Given the description of an element on the screen output the (x, y) to click on. 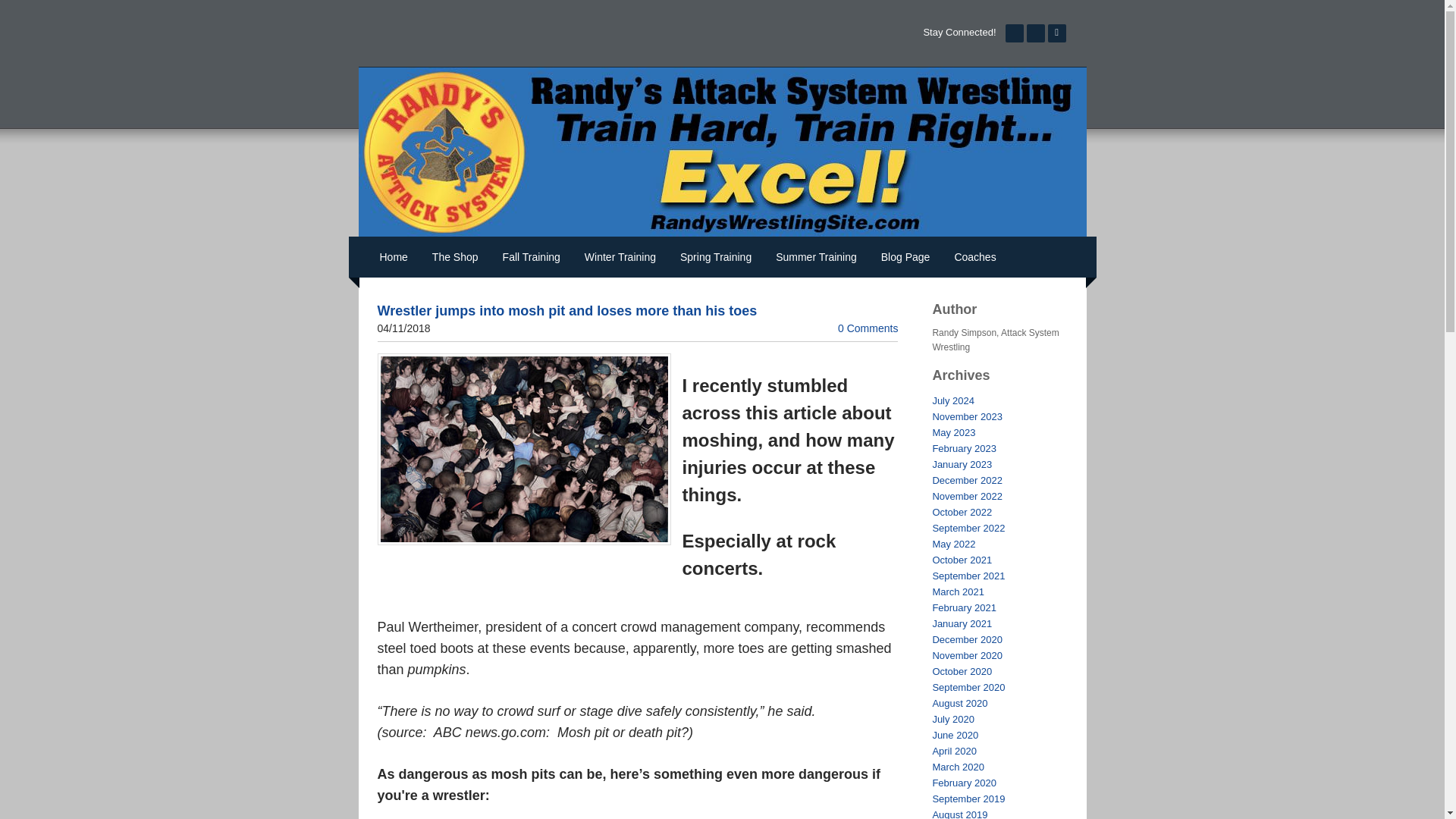
Summer Training (816, 256)
Spring Training (715, 256)
Winter Training (619, 256)
The Shop (455, 256)
Blog Page (905, 256)
Home (392, 256)
Coaches (974, 256)
Fall Training (531, 256)
